Given the description of an element on the screen output the (x, y) to click on. 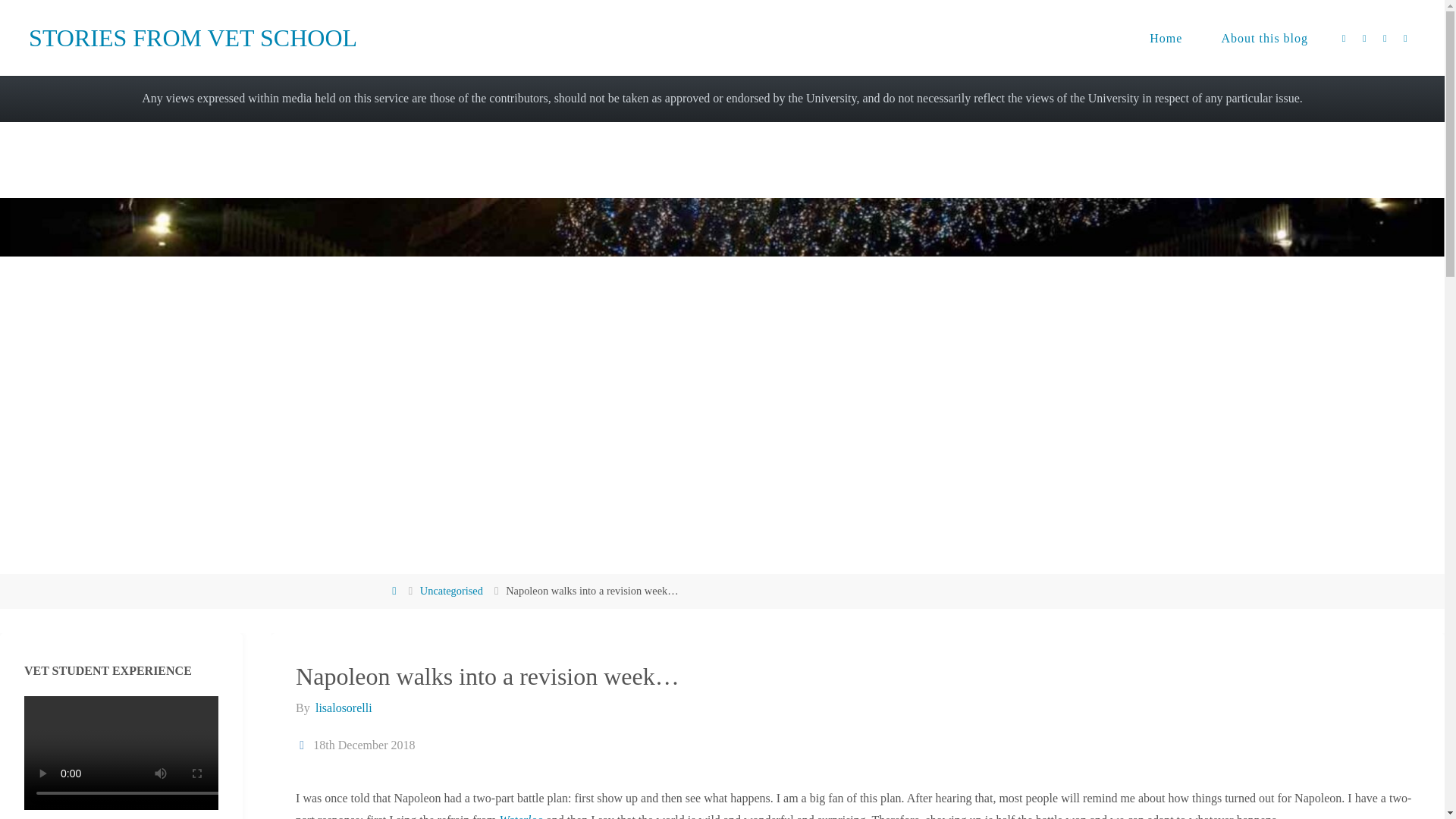
Home (1166, 38)
Uncategorised (451, 590)
Waterloo (521, 816)
STORIES FROM VET SCHOOL (192, 37)
About this blog (1264, 38)
View all posts by lisalosorelli (342, 707)
Date (302, 744)
lisalosorelli (342, 707)
